Given the description of an element on the screen output the (x, y) to click on. 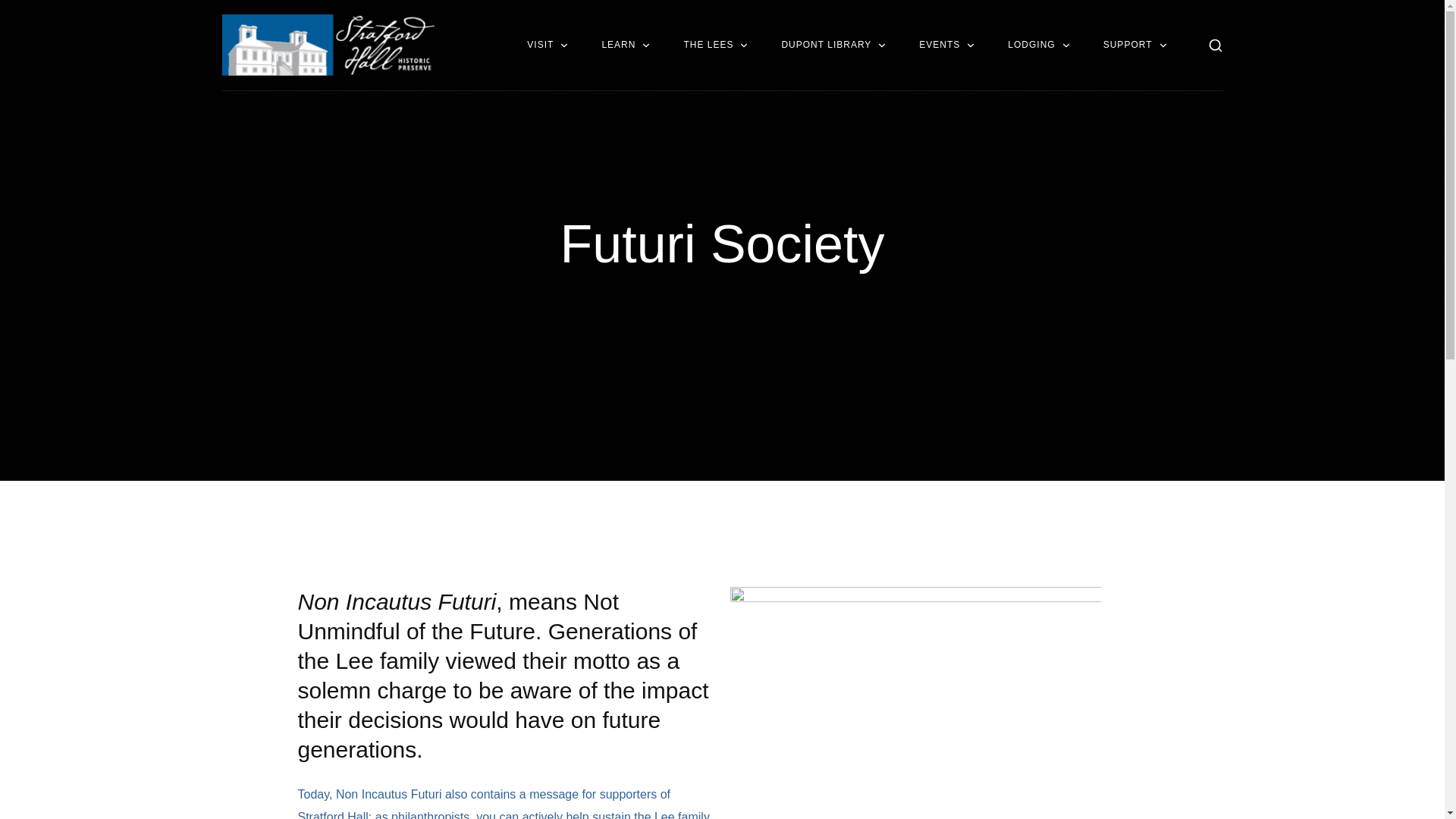
LEARN (627, 45)
EVENTS (948, 45)
THE LEES (716, 45)
DUPONT LIBRARY (834, 45)
